Given the description of an element on the screen output the (x, y) to click on. 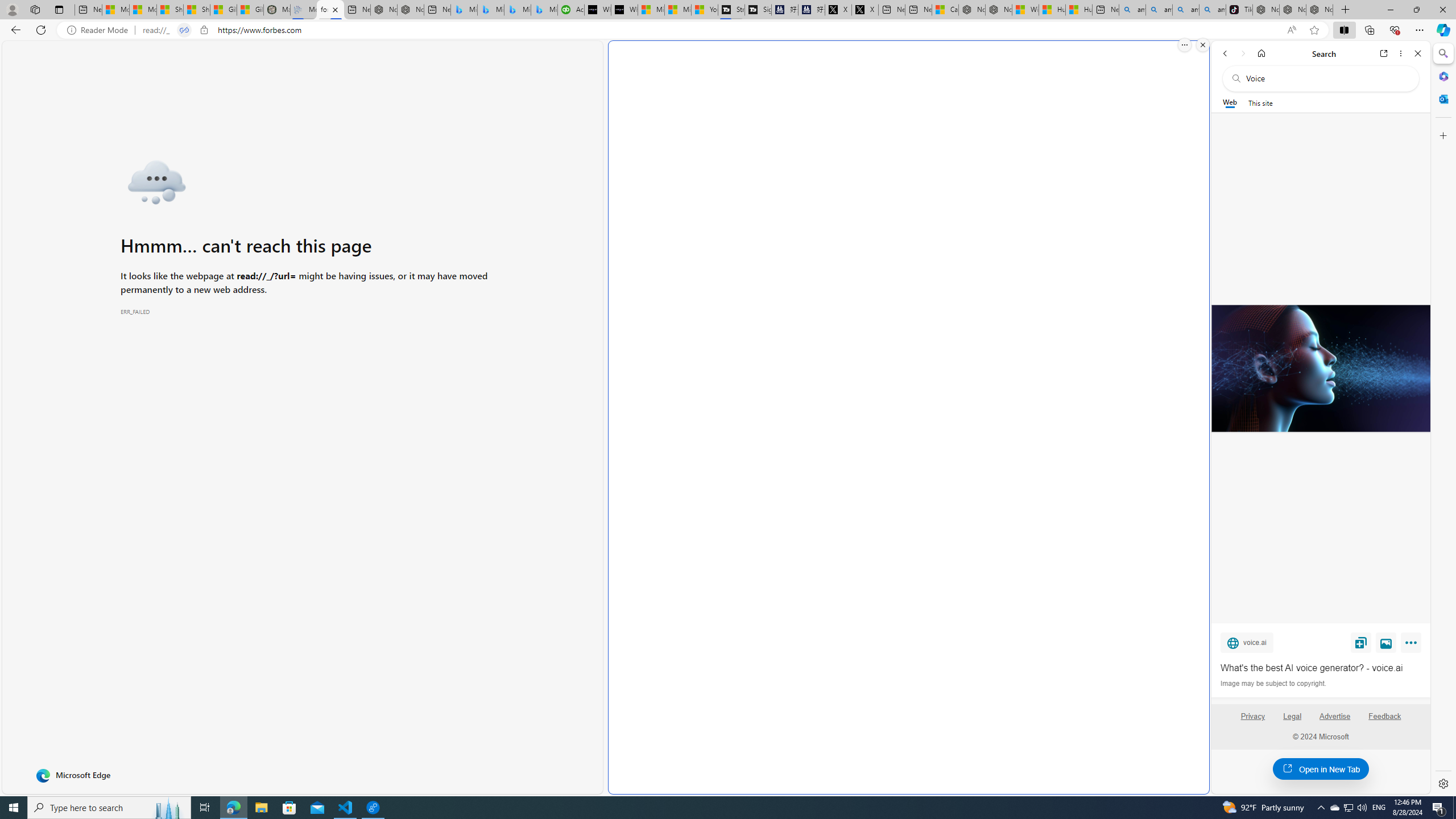
Open in New Tab (1321, 768)
Legal (1291, 715)
Outlook (1442, 98)
Wildlife - MSN (1025, 9)
More options (1401, 53)
Microsoft 365 (1442, 76)
What's the best AI voice generator? - voice.ai (1320, 368)
Privacy (1252, 720)
More (1413, 644)
Web scope (1230, 102)
X (865, 9)
